Given the description of an element on the screen output the (x, y) to click on. 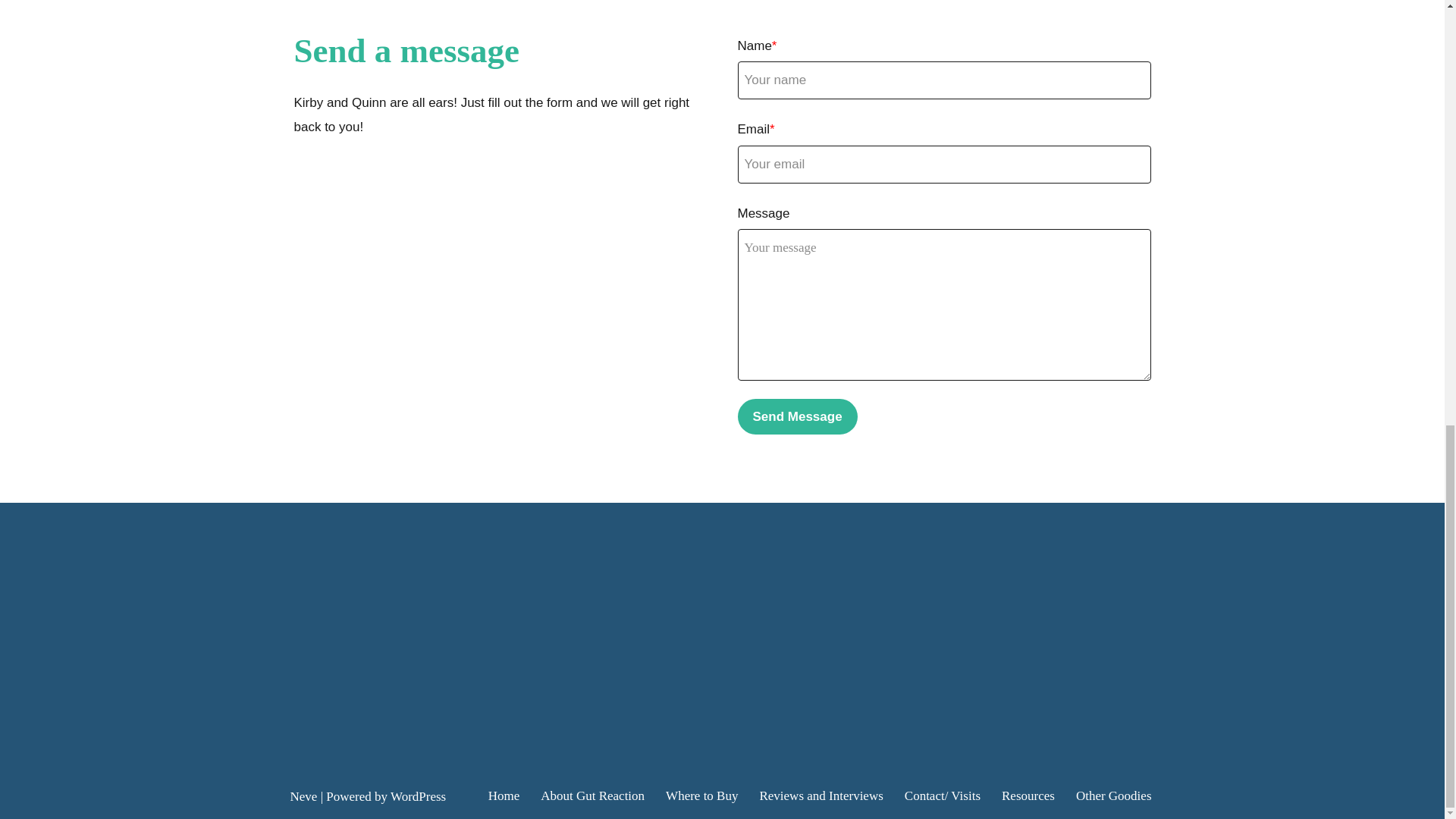
Reviews and Interviews (820, 794)
About Gut Reaction (592, 794)
WordPress (417, 796)
Resources (1027, 794)
Other Goodies (1113, 794)
Neve (303, 796)
Send Message (796, 416)
Where to Buy (701, 794)
Home (503, 794)
